Given the description of an element on the screen output the (x, y) to click on. 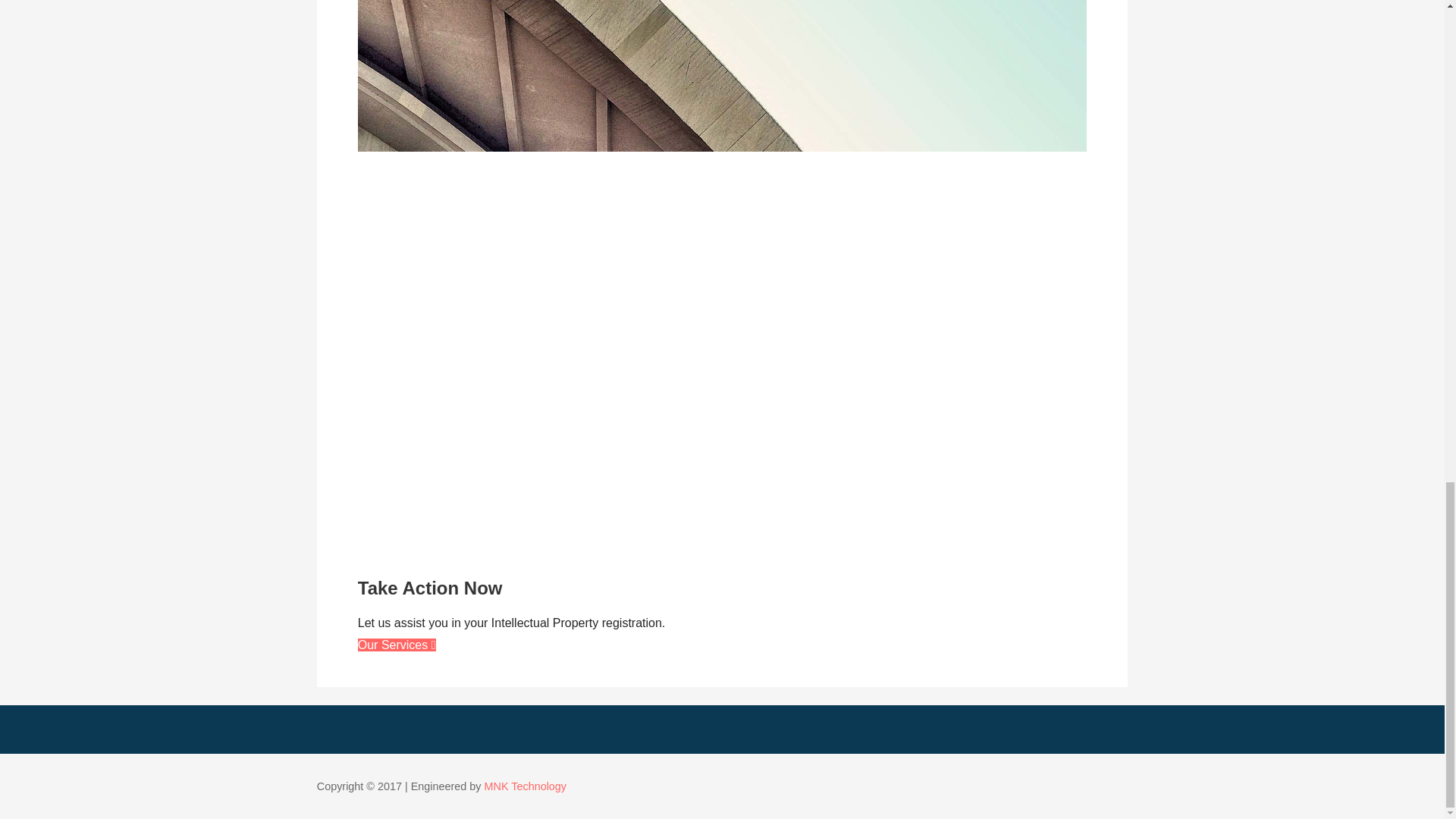
Our Services (396, 644)
MNK Technology (525, 786)
